Given the description of an element on the screen output the (x, y) to click on. 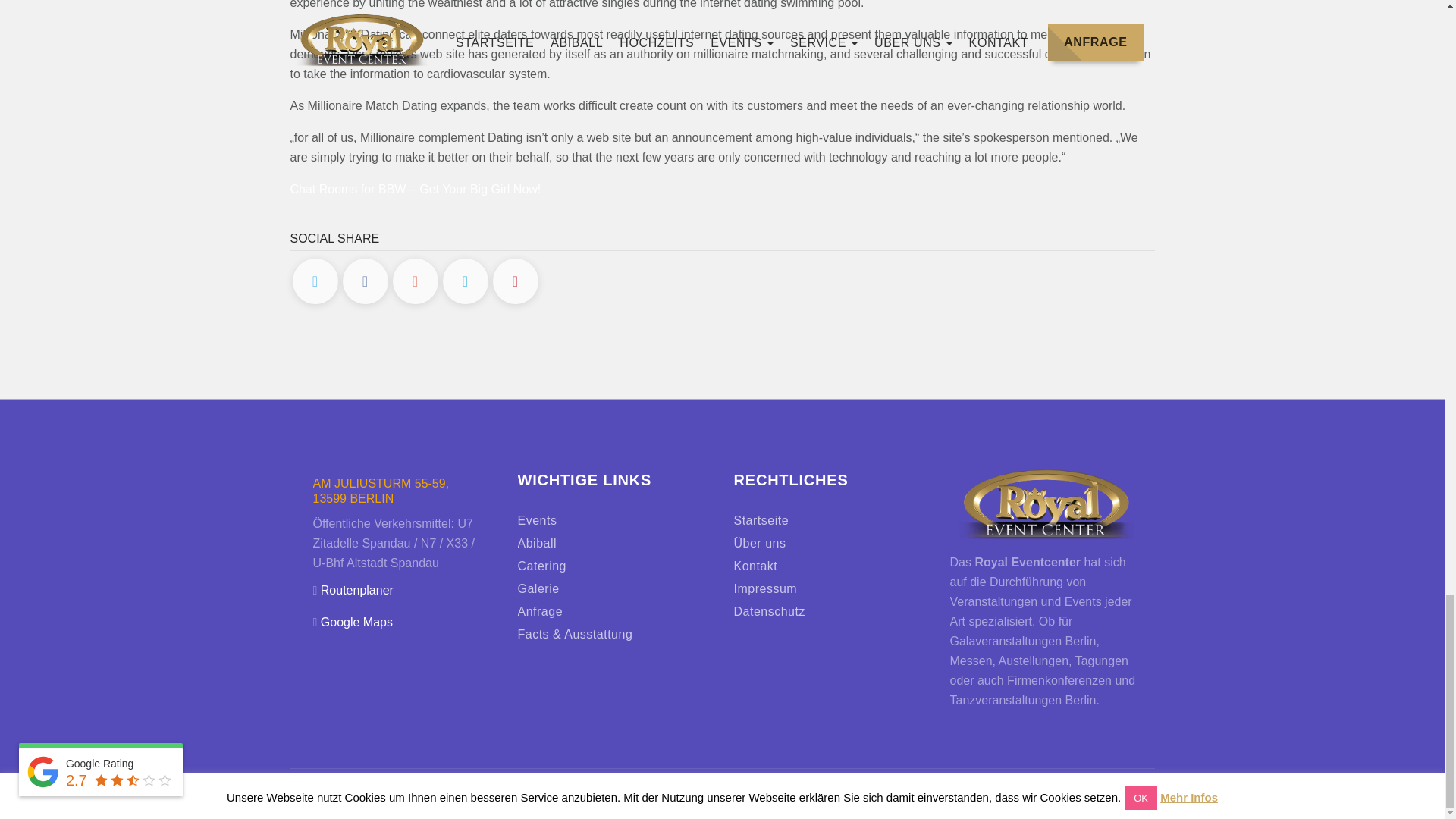
Abiball (536, 543)
Anfrage (539, 611)
Webdesign Berlin (998, 797)
Routenplaner (356, 590)
Impressum (765, 588)
Galerie (537, 588)
Catering (541, 565)
Startseite (761, 520)
Events (536, 520)
Google Maps (356, 621)
Kontakt (755, 565)
